Given the description of an element on the screen output the (x, y) to click on. 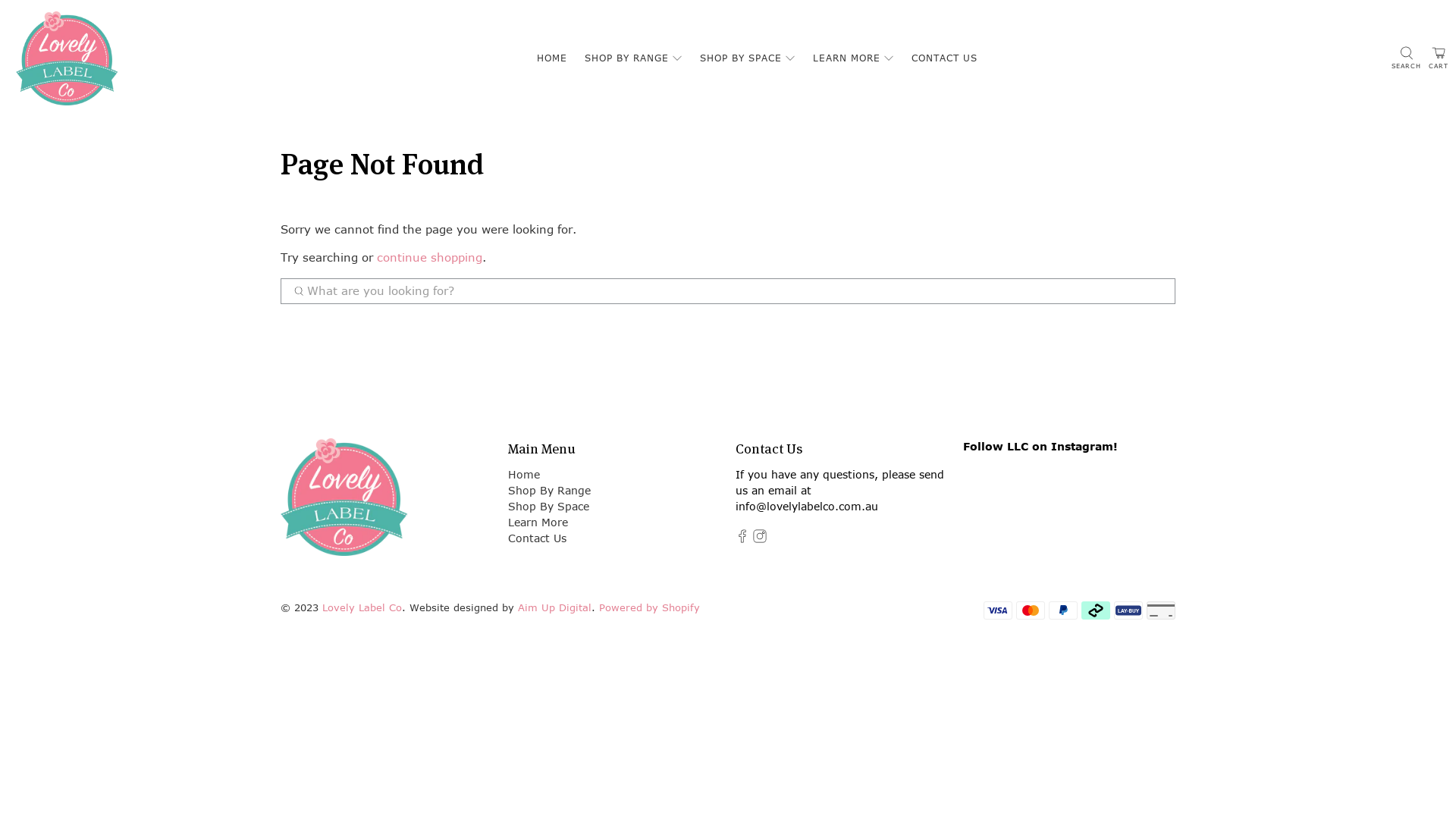
Lovely Label Co Element type: hover (66, 58)
Shop By Space Element type: text (548, 505)
Lovely Label Co on Instagram Element type: hover (759, 538)
SHOP BY SPACE Element type: text (747, 58)
CART Element type: text (1438, 58)
LEARN MORE Element type: text (853, 58)
Aim Up Digital Element type: text (554, 607)
Lovely Label Co Element type: hover (343, 504)
Lovely Label Co Element type: text (361, 607)
Lovely Label Co on Facebook Element type: hover (742, 538)
SEARCH Element type: text (1405, 58)
continue shopping Element type: text (429, 257)
Powered by Shopify Element type: text (649, 607)
HOME Element type: text (552, 58)
SHOP BY RANGE Element type: text (632, 58)
Shop By Range Element type: text (549, 490)
Home Element type: text (523, 474)
CONTACT US Element type: text (944, 58)
Learn More Element type: text (537, 521)
Contact Us Element type: text (537, 537)
